Given the description of an element on the screen output the (x, y) to click on. 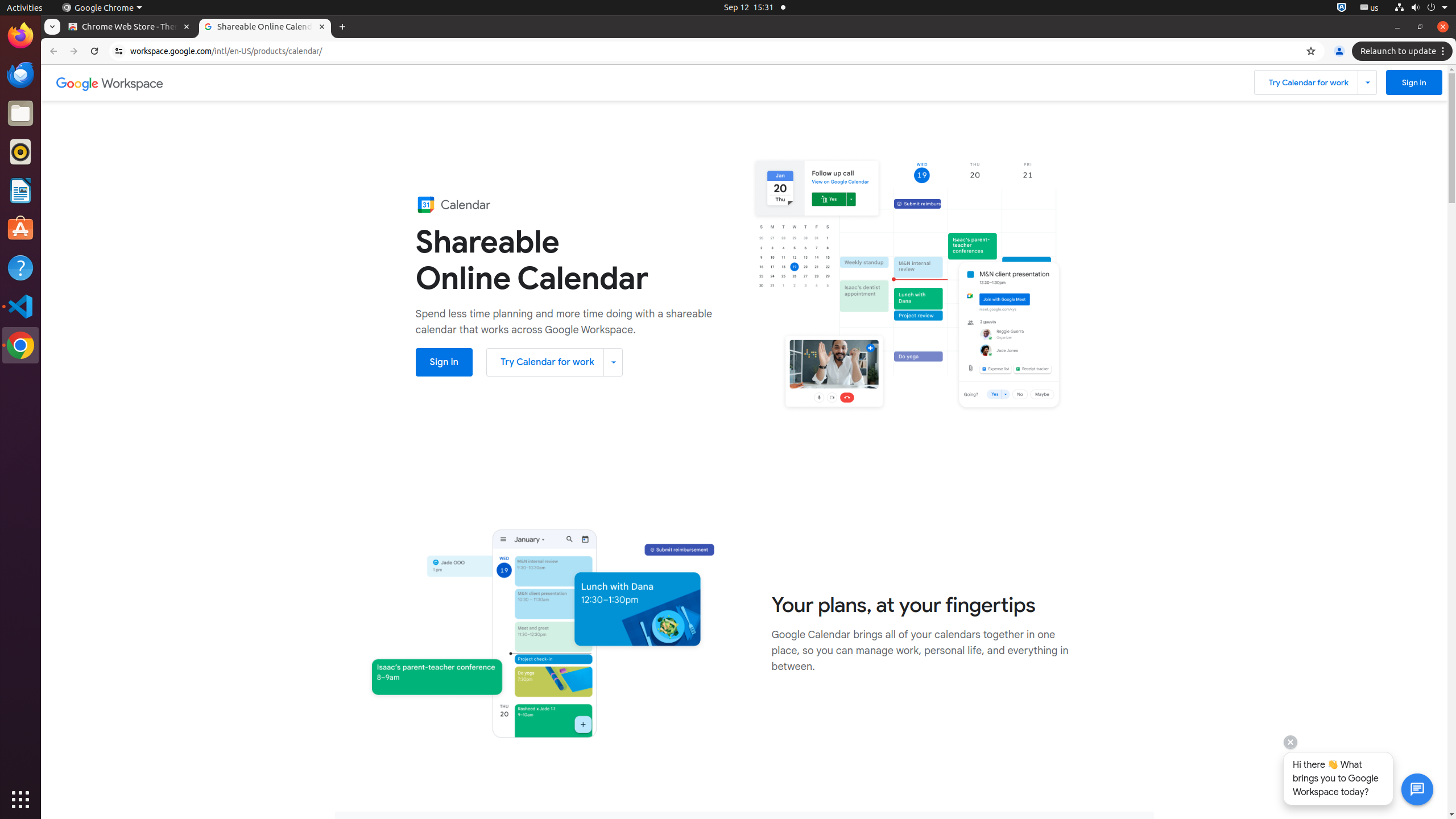
Google Workspace Element type: link (110, 83)
You Element type: push-button (1339, 50)
Google Chrome Element type: push-button (20, 344)
LibreOffice Writer Element type: push-button (20, 190)
Back Element type: push-button (51, 50)
